Given the description of an element on the screen output the (x, y) to click on. 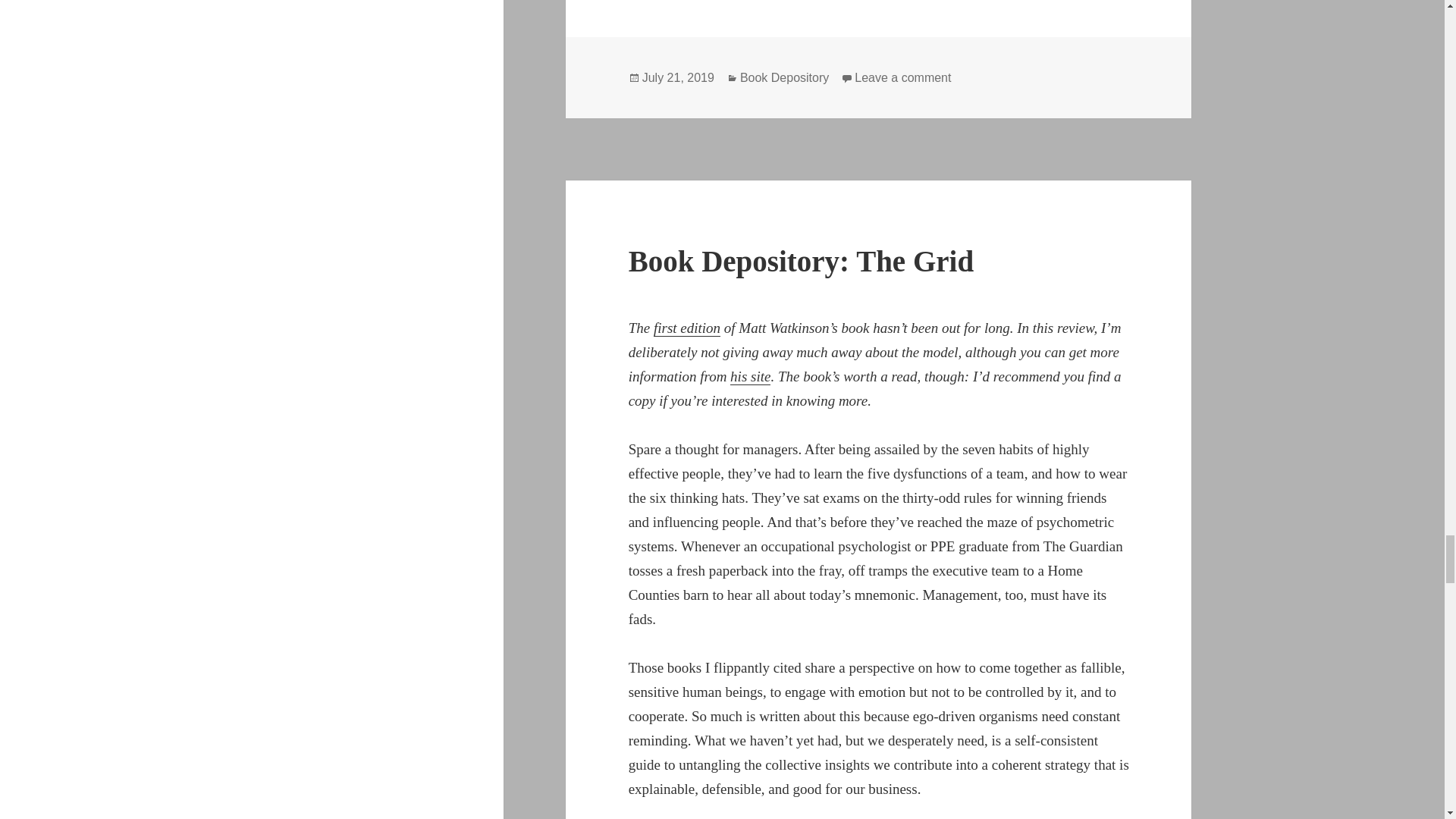
Book Depository (783, 78)
first edition (902, 78)
his site (686, 328)
July 21, 2019 (750, 376)
Book Depository: The Grid (678, 78)
